Given the description of an element on the screen output the (x, y) to click on. 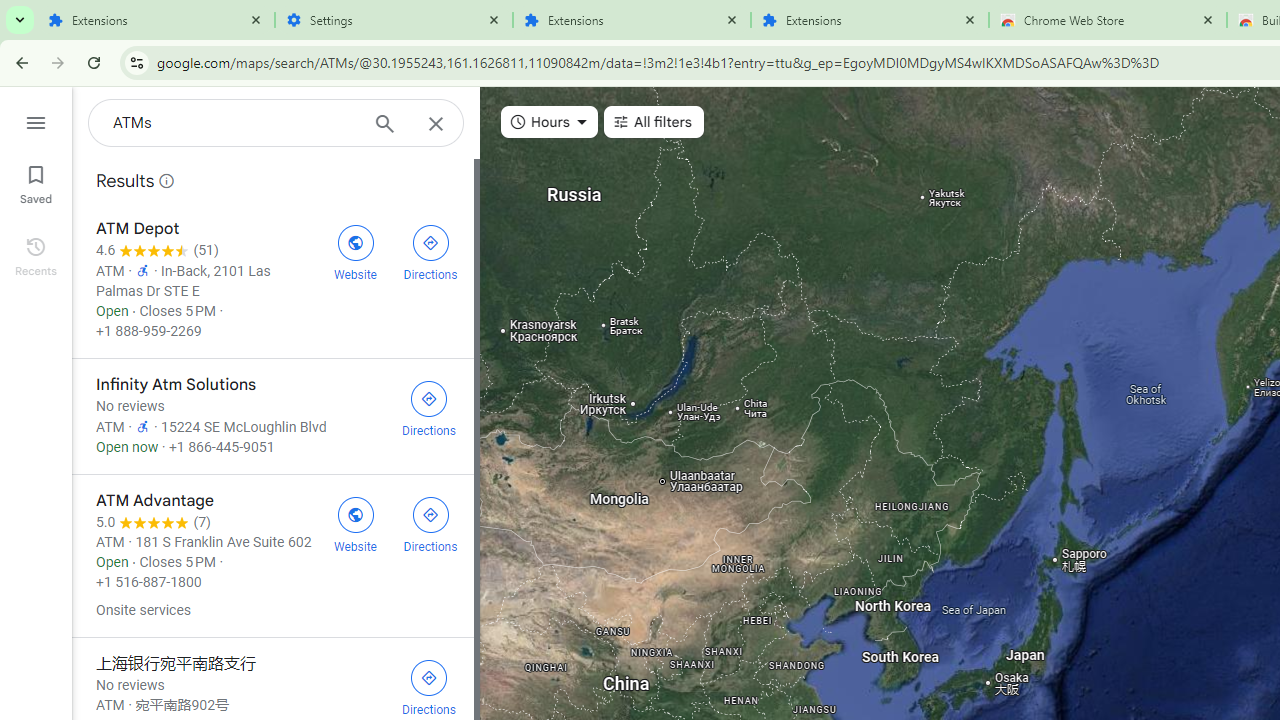
Extensions (156, 20)
4.6 stars 51 Reviews (157, 250)
Settings (394, 20)
Recents (35, 254)
